Given the description of an element on the screen output the (x, y) to click on. 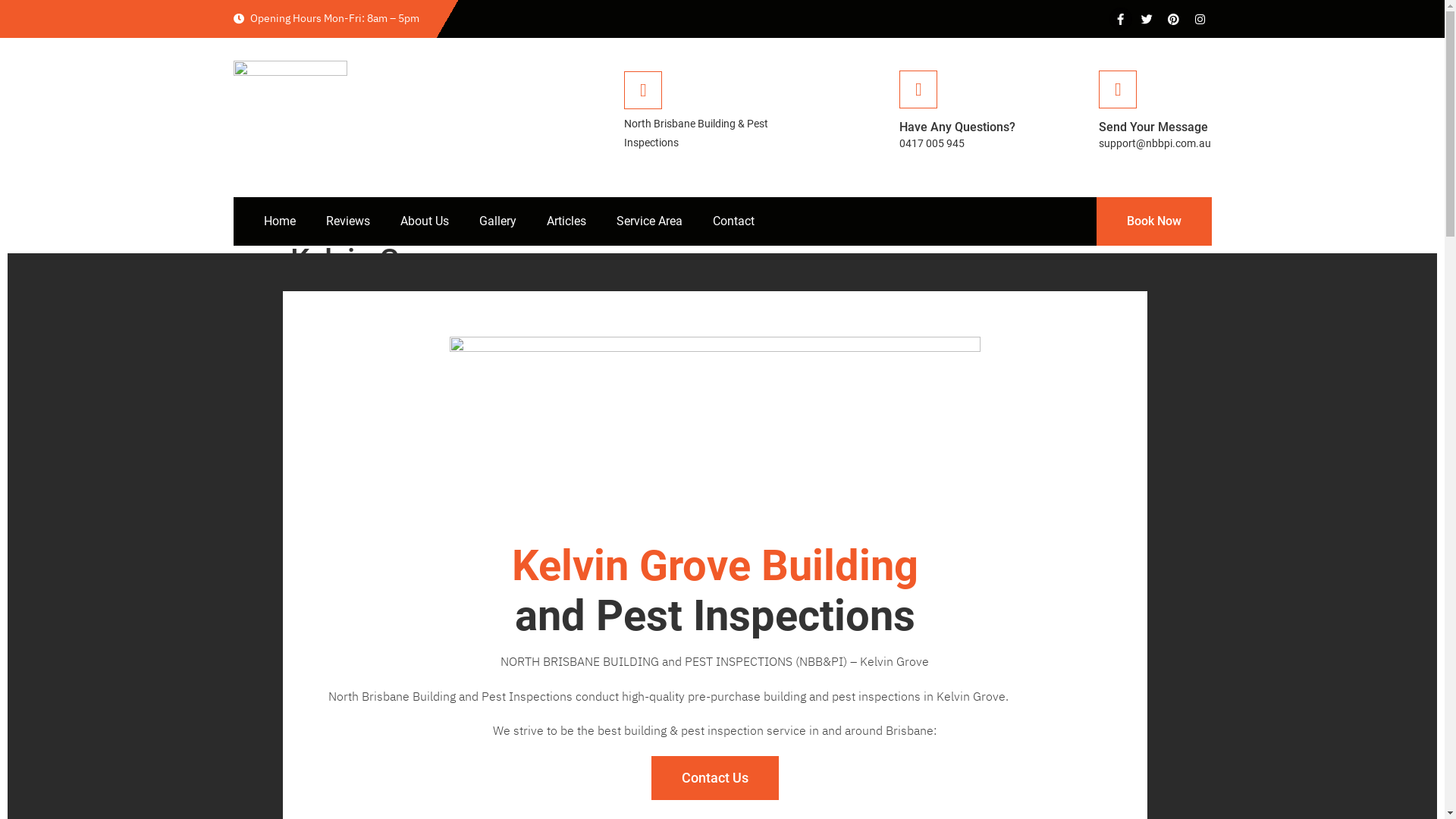
Articles Element type: text (565, 220)
Contact Element type: text (733, 220)
Service Area Element type: text (648, 220)
Contact Us Element type: text (714, 778)
Book Now Element type: text (1153, 221)
Gallery Element type: text (497, 220)
About Us Element type: text (424, 220)
Reviews Element type: text (347, 220)
Home Element type: text (279, 220)
